Given the description of an element on the screen output the (x, y) to click on. 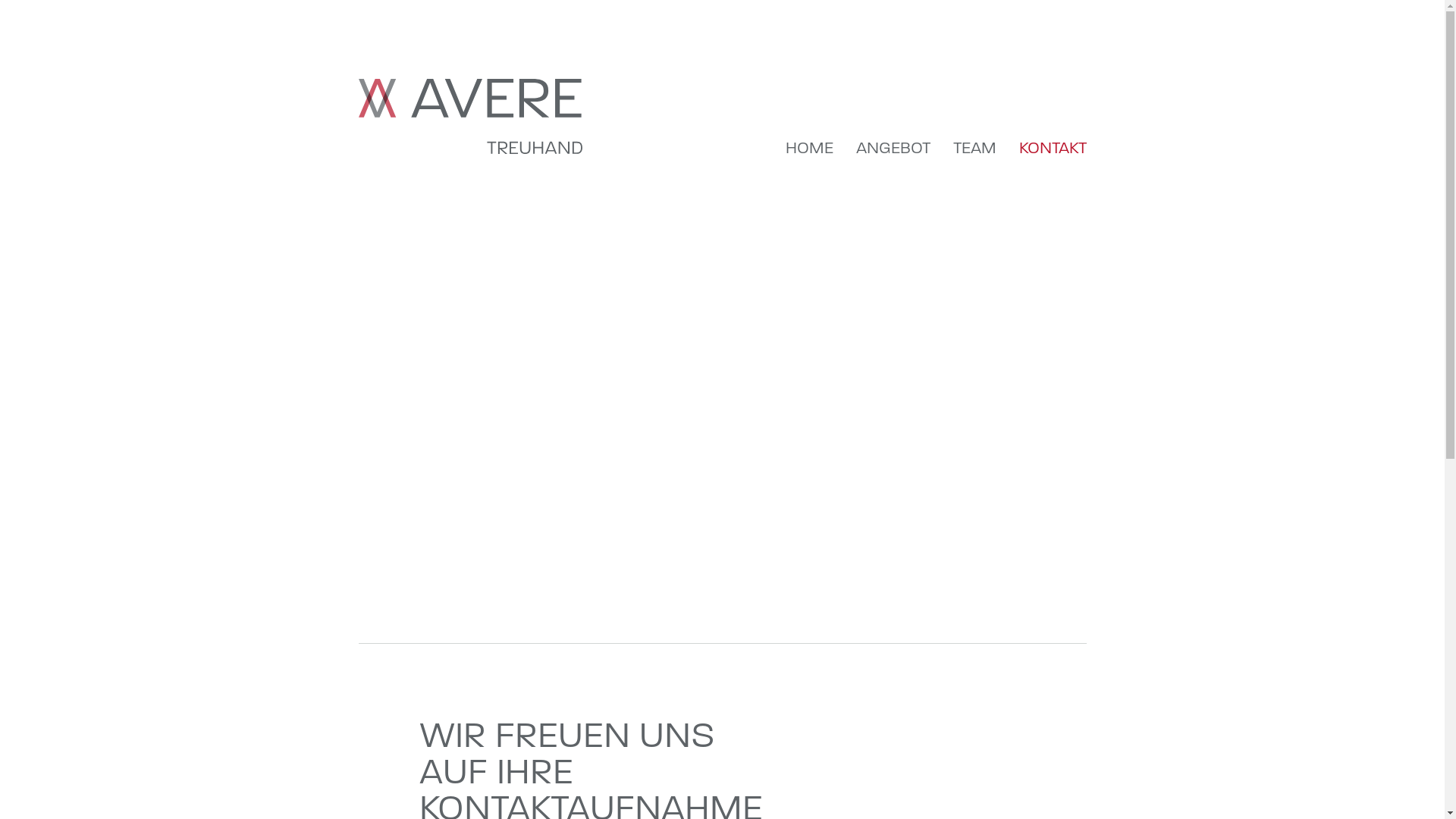
Avere Treuhand Element type: hover (469, 115)
ANGEBOT Element type: text (892, 147)
TEAM Element type: text (973, 147)
KONTAKT Element type: text (1052, 147)
HOME Element type: text (809, 147)
